Given the description of an element on the screen output the (x, y) to click on. 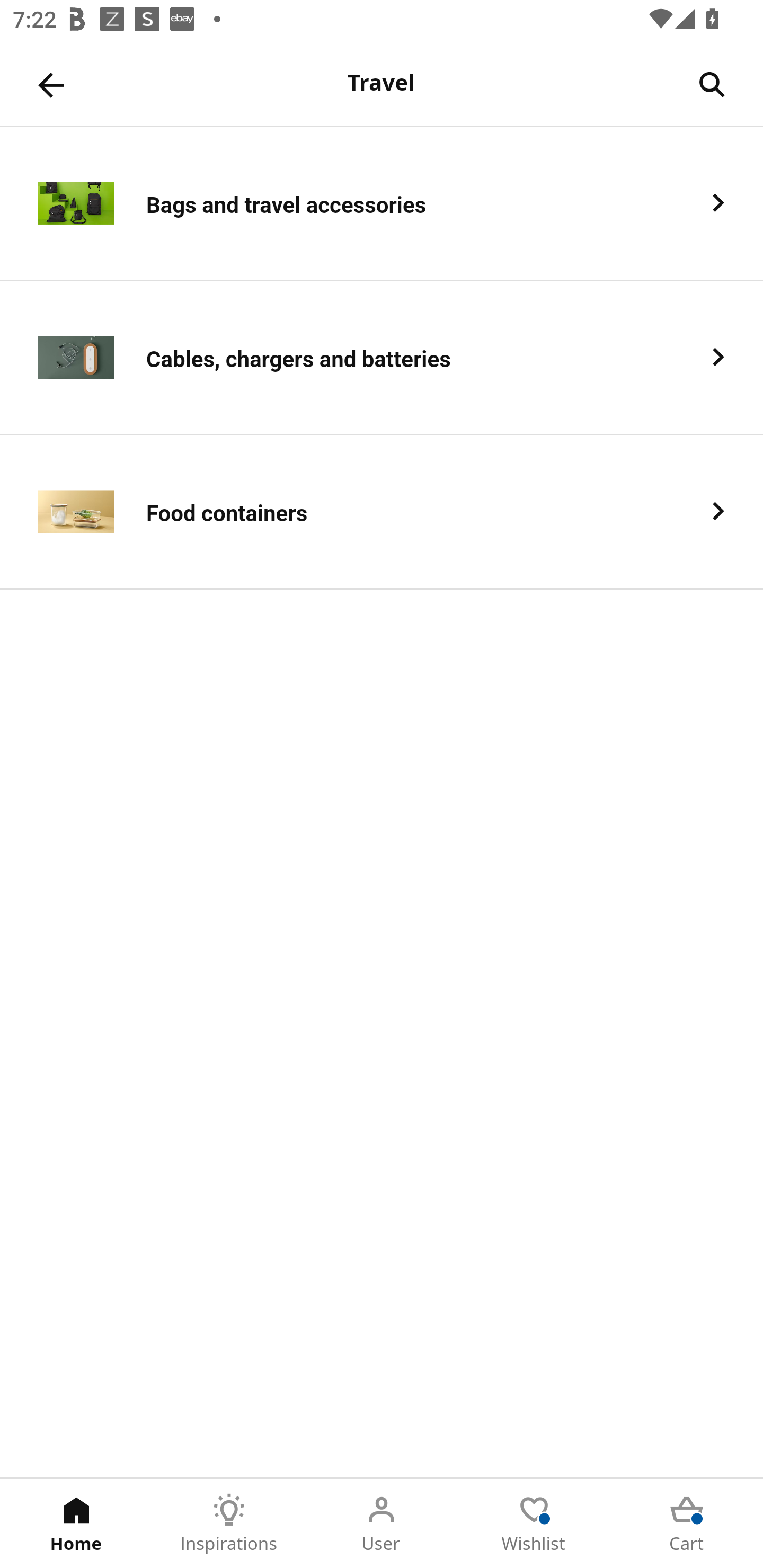
Bags and travel accessories (381, 203)
Cables, chargers and batteries (381, 357)
Food containers (381, 512)
Home
Tab 1 of 5 (76, 1522)
Inspirations
Tab 2 of 5 (228, 1522)
User
Tab 3 of 5 (381, 1522)
Wishlist
Tab 4 of 5 (533, 1522)
Cart
Tab 5 of 5 (686, 1522)
